Given the description of an element on the screen output the (x, y) to click on. 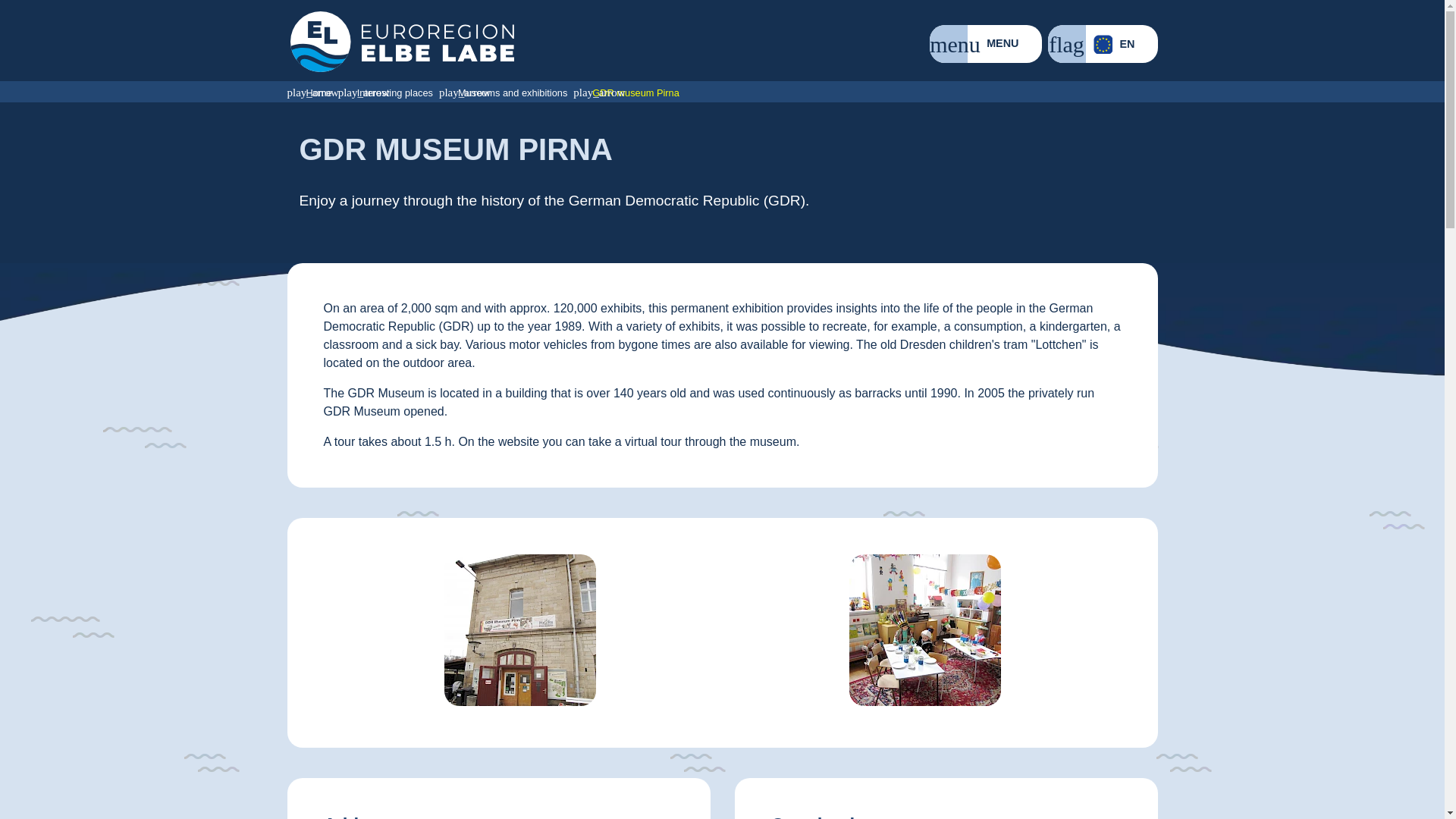
GDR museum Pirna (629, 91)
Home (311, 91)
MENU (985, 44)
Interesting places (388, 91)
Museums and exhibitions (506, 91)
EN (1102, 44)
